Given the description of an element on the screen output the (x, y) to click on. 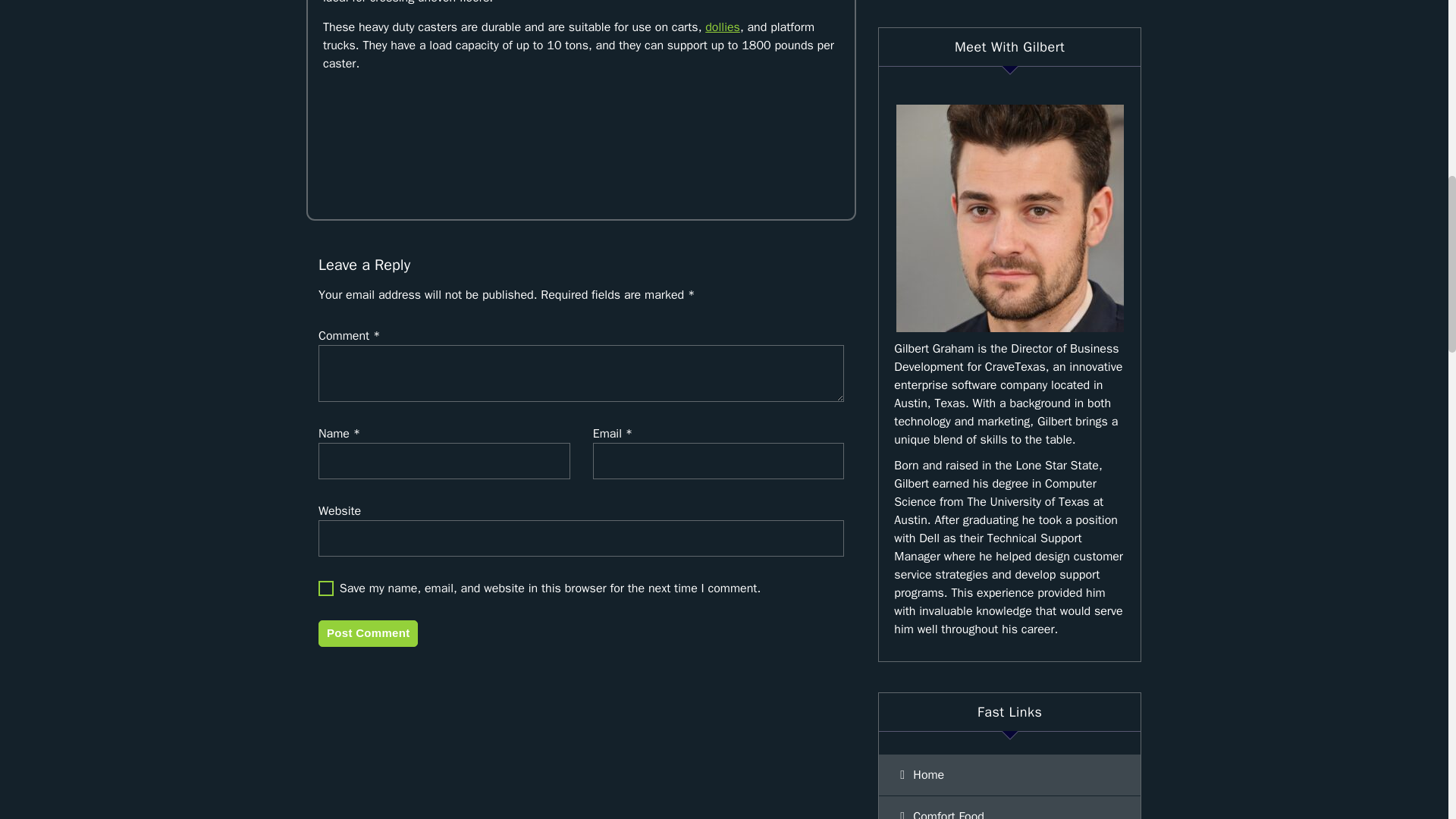
Post Comment (367, 632)
yes (325, 588)
Post Comment (367, 632)
Home (1009, 774)
dollies (721, 27)
